Given the description of an element on the screen output the (x, y) to click on. 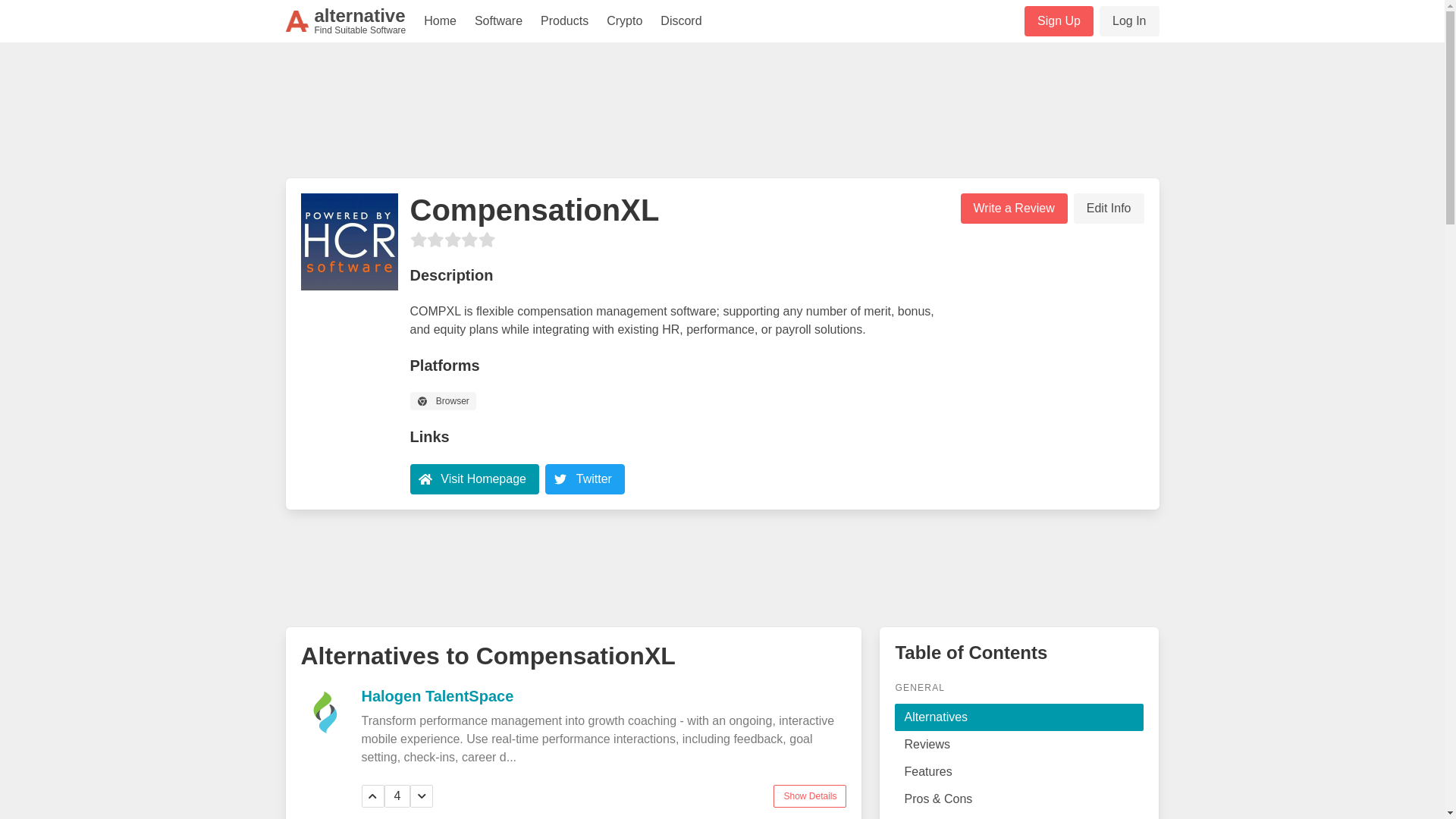
Sign Up (1059, 20)
Visit Homepage (473, 479)
Visit Homepage (483, 477)
Home (439, 21)
Discord (680, 21)
Advertisement (345, 21)
Show Details (721, 565)
Twitter (809, 795)
Advertisement (593, 477)
Software (721, 116)
Log In (498, 21)
Halogen TalentSpace (1128, 20)
Write a Review (437, 695)
Products (1013, 208)
